Given the description of an element on the screen output the (x, y) to click on. 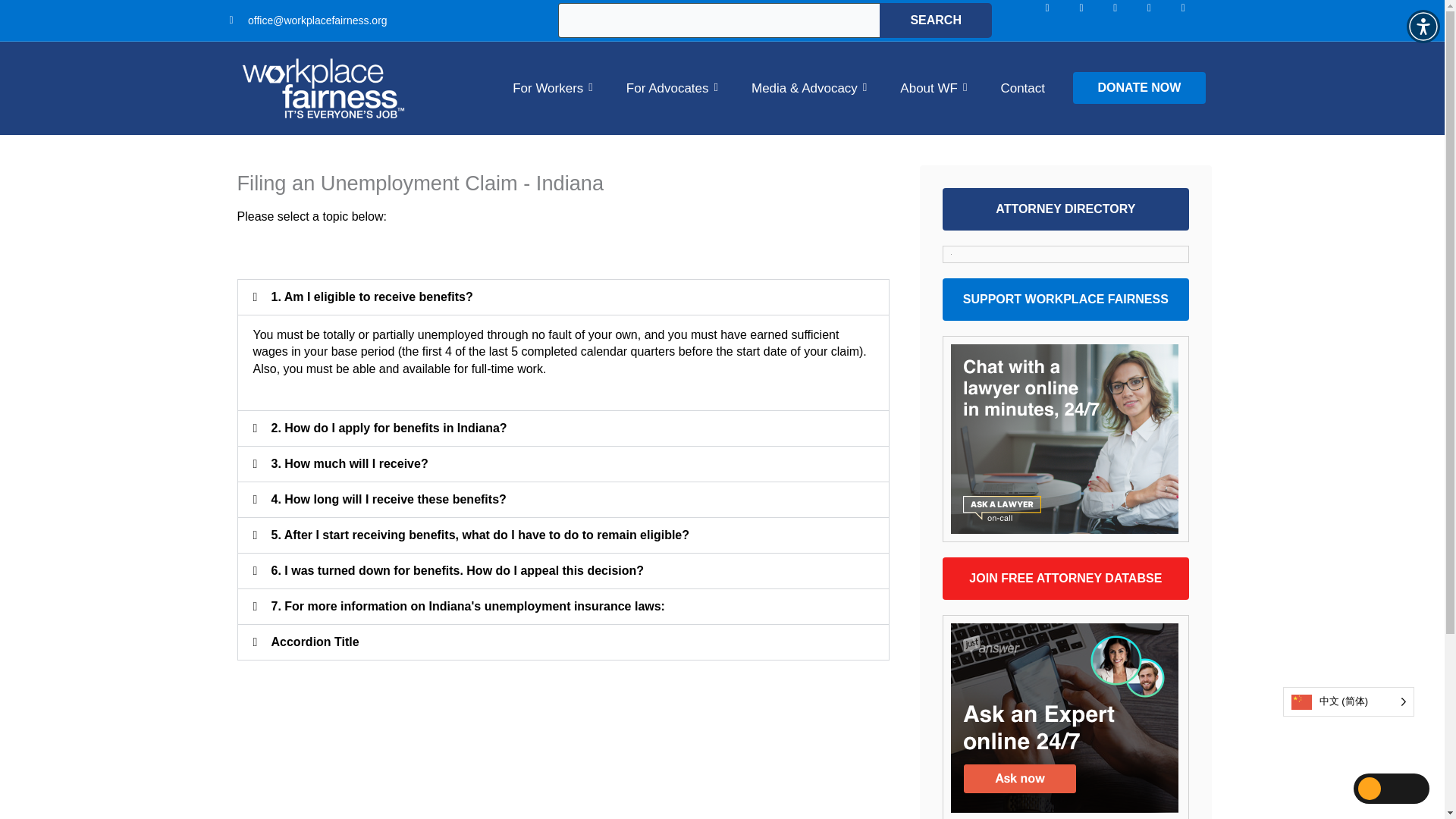
Search (935, 20)
Accessibility Menu (1422, 26)
Search (935, 20)
Facebook-f (1058, 19)
For Workers (552, 88)
Search (935, 20)
Linkedin (1126, 19)
Twitter (1160, 19)
Youtube (1194, 19)
Instagram (1092, 19)
